Given the description of an element on the screen output the (x, y) to click on. 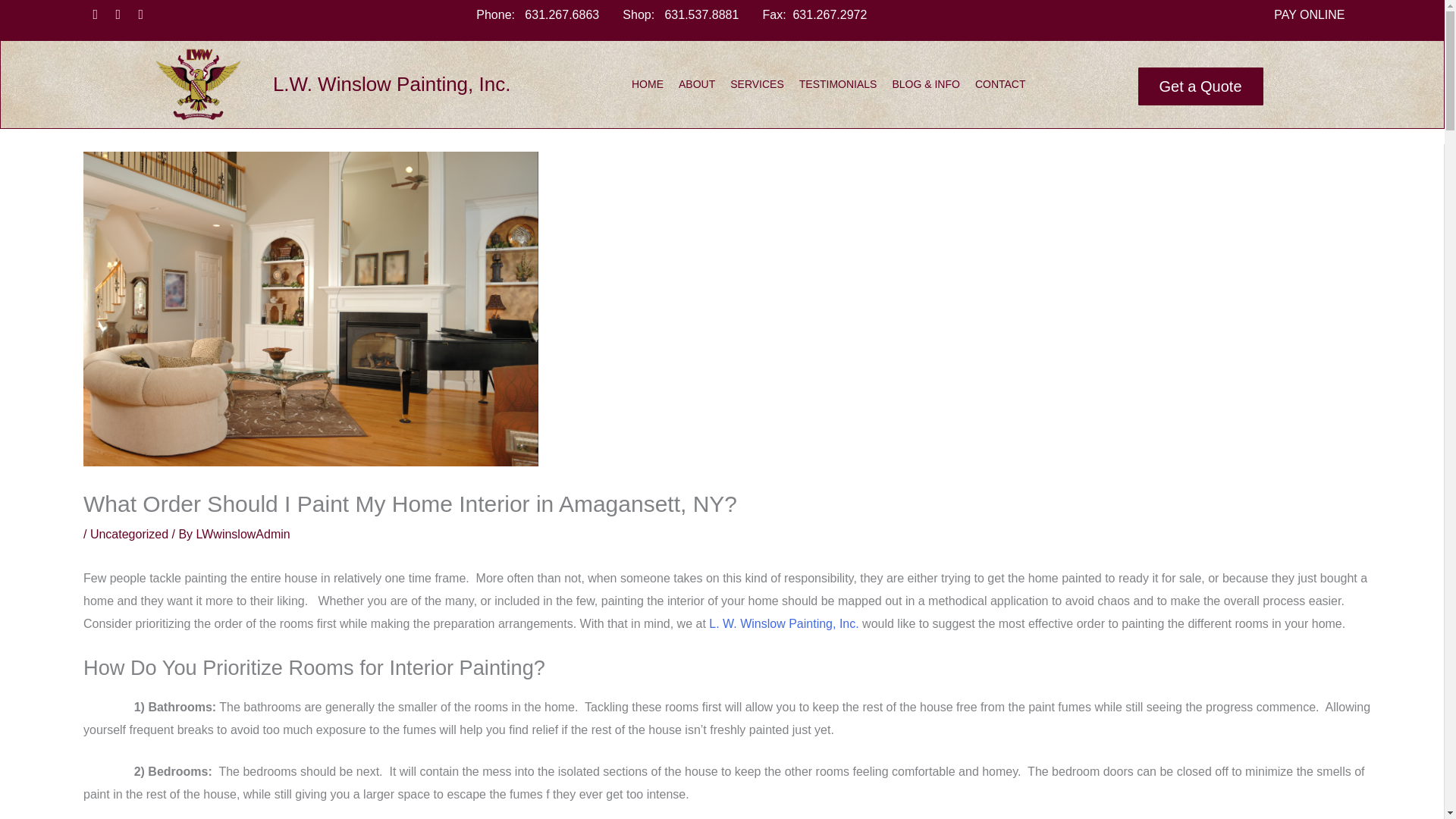
HOME (646, 84)
Pay My Invoice (747, 314)
L.W. Winslow Painting, Inc. (392, 83)
ABOUT (697, 84)
L.W. Winslow Painting, Inc. (392, 83)
631.267.6863 (561, 14)
TESTIMONIALS (837, 84)
View all posts by LWwinslowAdmin (242, 533)
SERVICES (756, 84)
631.537.8881 (700, 14)
CONTACT (1000, 84)
